Given the description of an element on the screen output the (x, y) to click on. 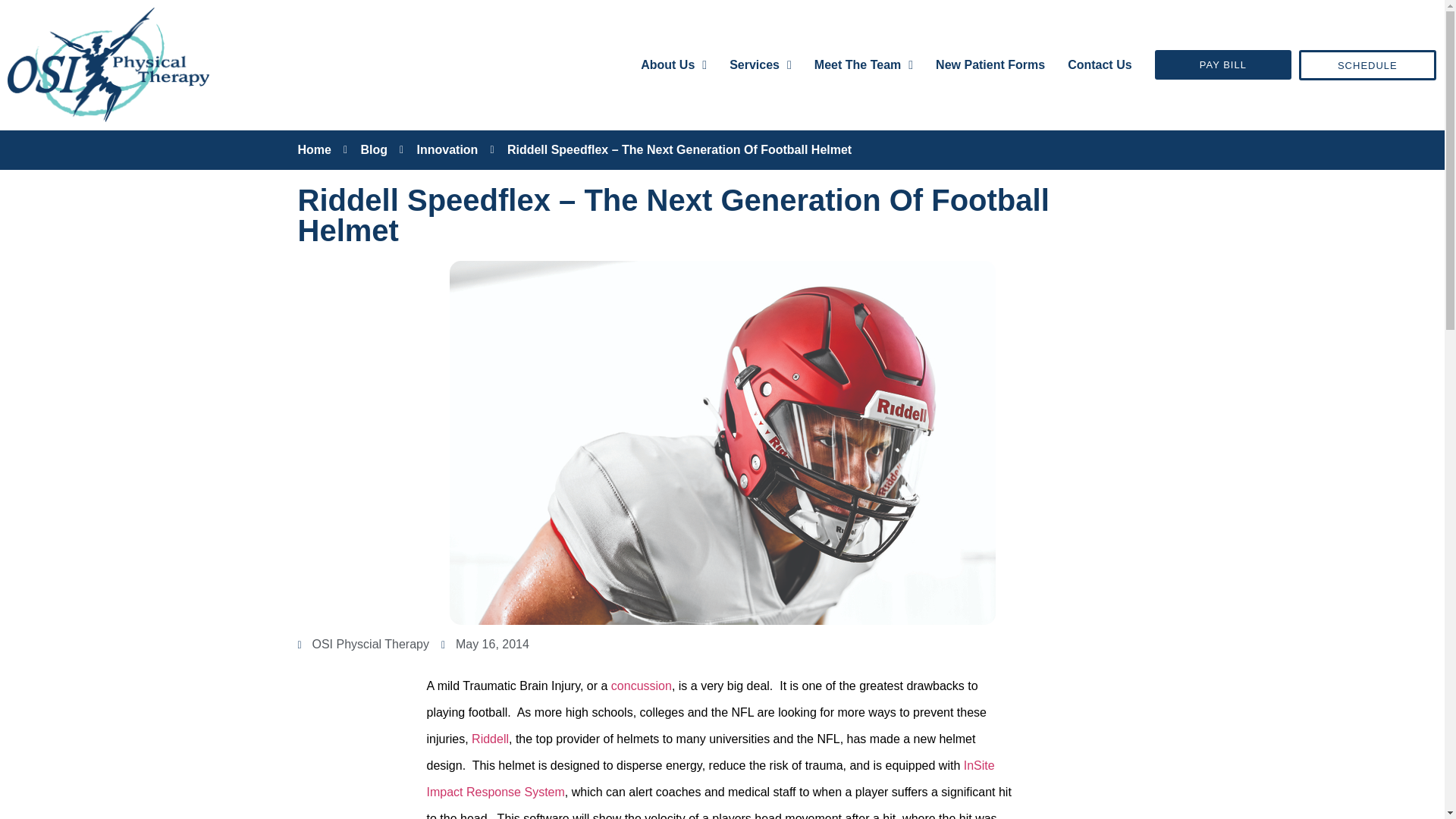
InSite Impact Response System (710, 778)
Services (760, 65)
concussion (641, 685)
Riddell (489, 738)
About Us (672, 65)
